Given the description of an element on the screen output the (x, y) to click on. 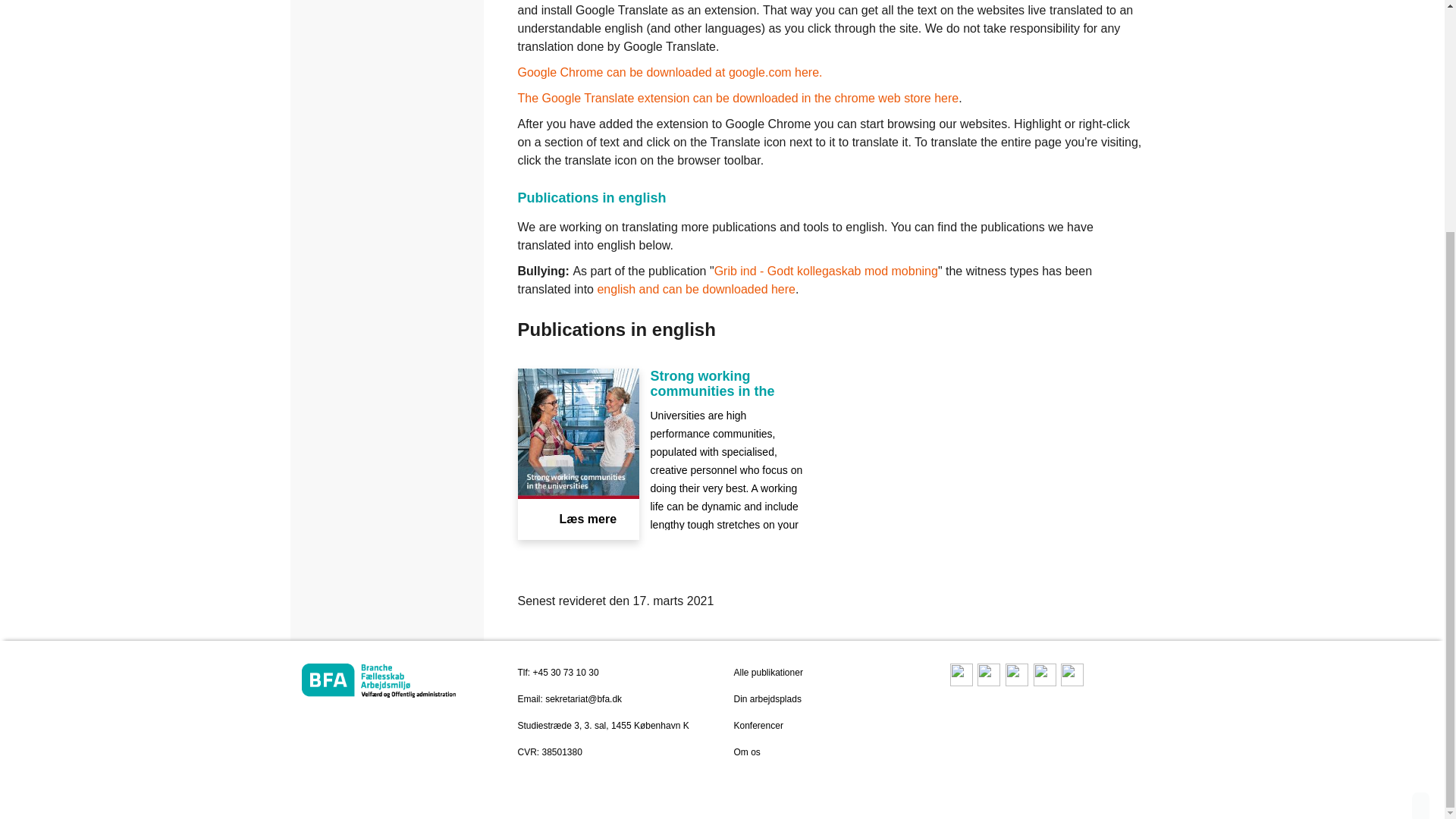
Bystander ROLES (695, 288)
In english: Publications and websites (386, 2)
Publikationer (768, 672)
grib-ind-godt-kollegaskab-uden-mobning (825, 270)
english and can be downloaded here (695, 288)
Grib ind - Godt kollegaskab mod mobning (825, 270)
konferencer (758, 725)
Google Chrome can be downloaded at google.com here. (669, 72)
